Given the description of an element on the screen output the (x, y) to click on. 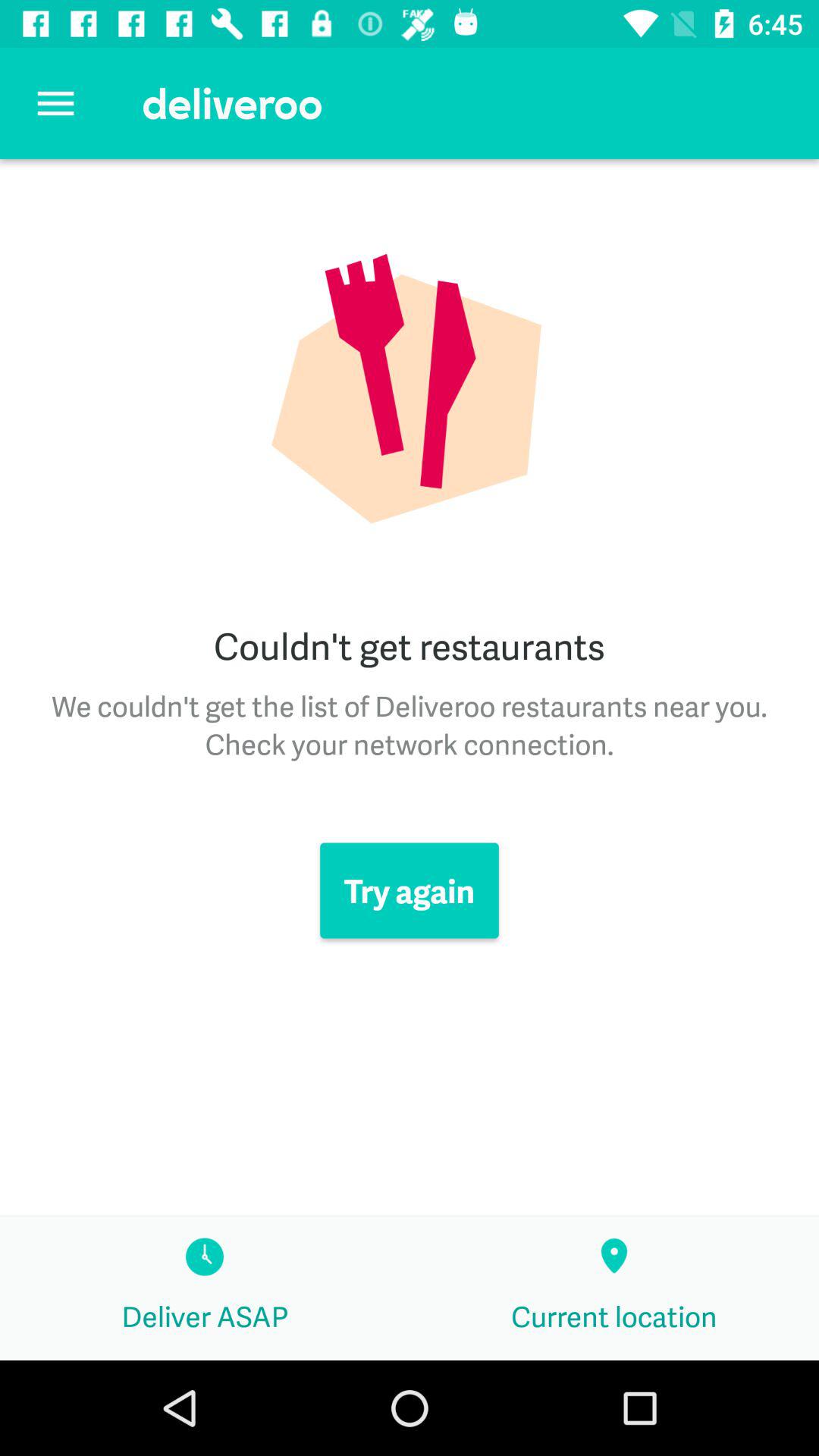
launch the icon at the bottom left corner (204, 1288)
